Given the description of an element on the screen output the (x, y) to click on. 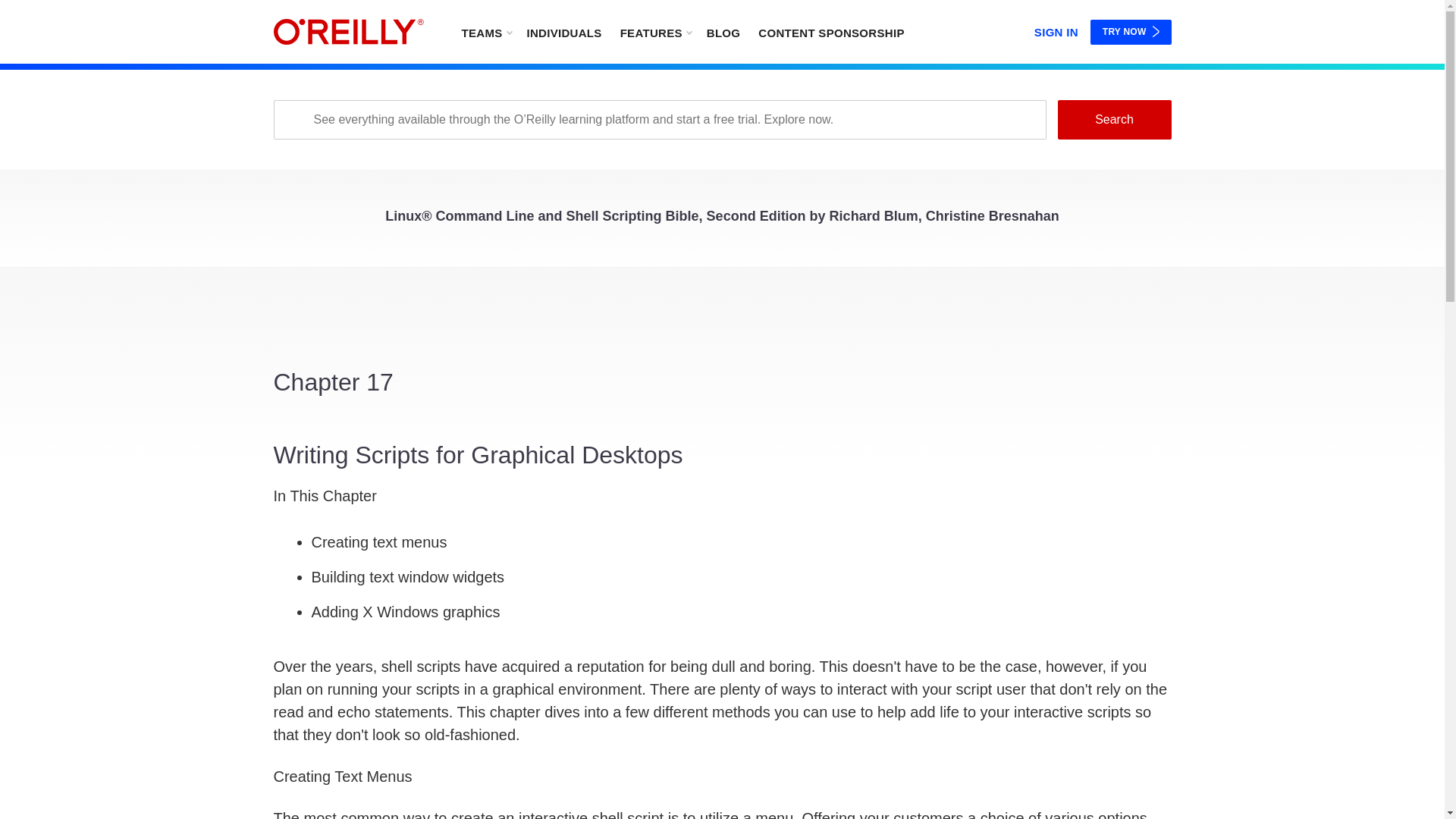
CONTENT SPONSORSHIP (831, 31)
home page (348, 31)
Search (1113, 119)
BLOG (723, 31)
FEATURES (655, 31)
Search (1113, 119)
Search (1113, 119)
TEAMS (486, 31)
INDIVIDUALS (563, 31)
SIGN IN (1055, 29)
TRY NOW (1131, 32)
